Given the description of an element on the screen output the (x, y) to click on. 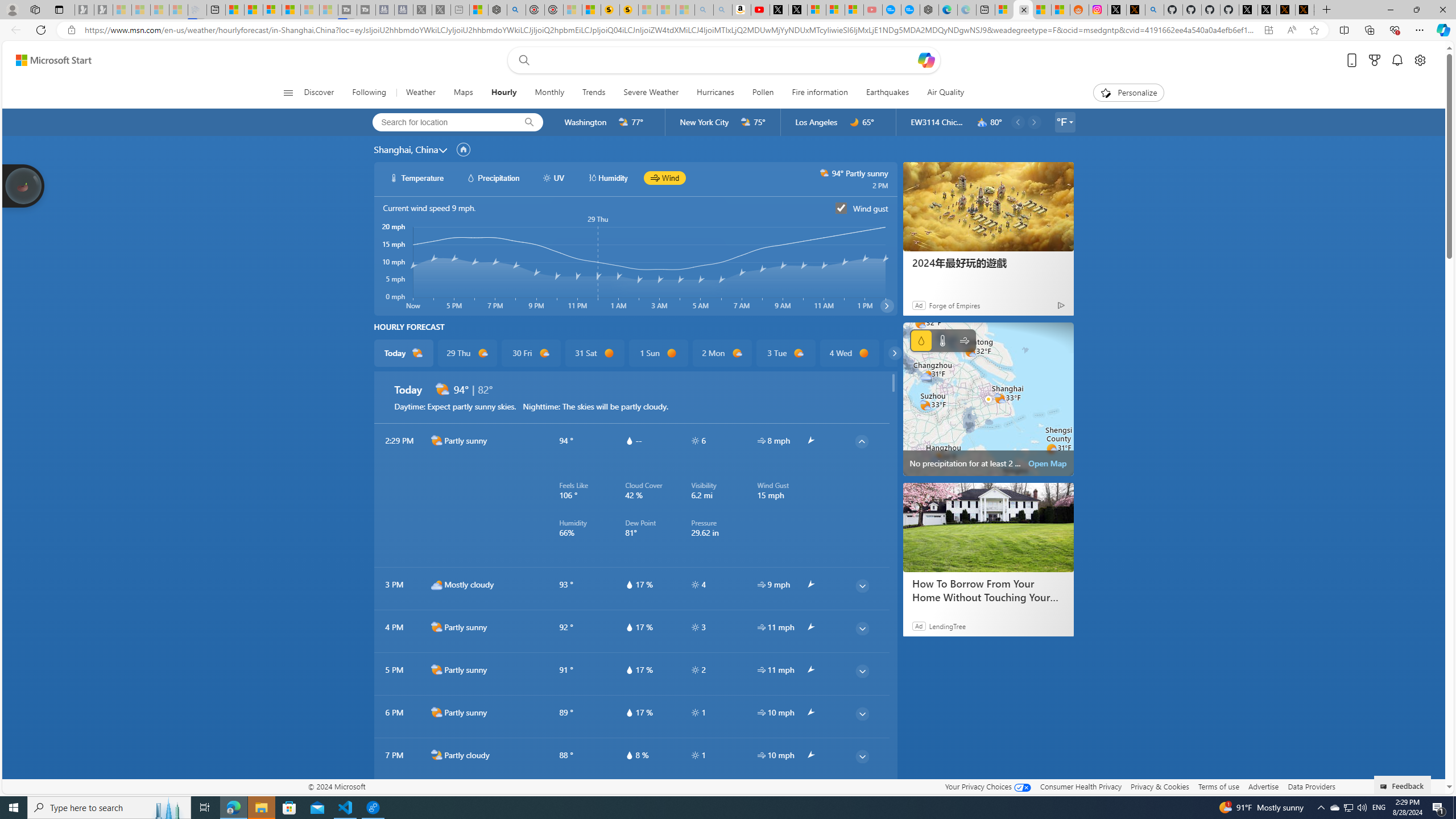
Forge of Empires (953, 304)
Consumer Health Privacy (1080, 785)
Precipitation (920, 340)
hourlyChart/precipitationWhite Precipitation (493, 178)
29 Thu d1000 (466, 352)
Maps (462, 92)
